Given the description of an element on the screen output the (x, y) to click on. 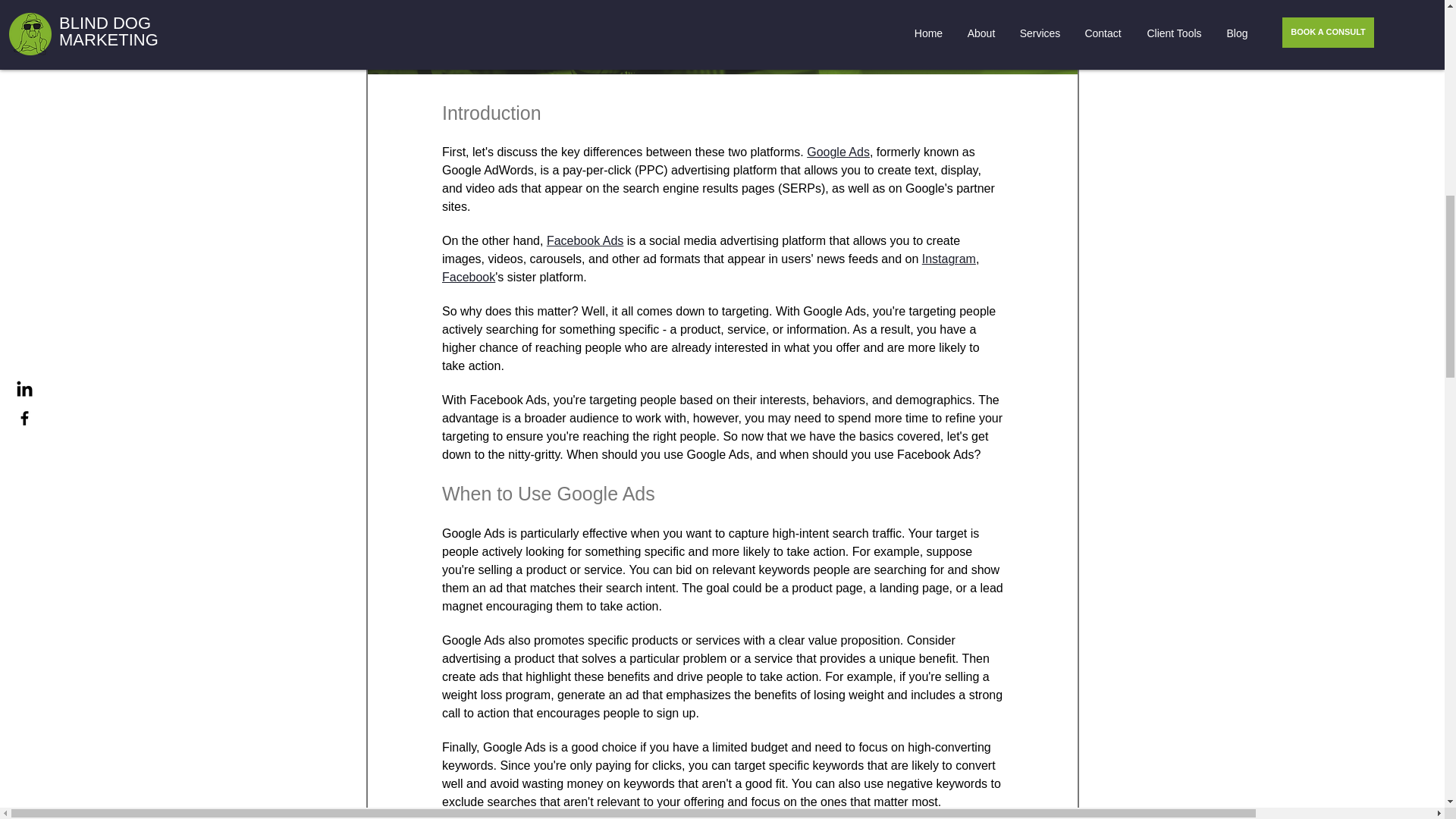
Google Ads (837, 152)
Facebook Ads (584, 241)
Facebook (468, 277)
Instagram (948, 259)
